Given the description of an element on the screen output the (x, y) to click on. 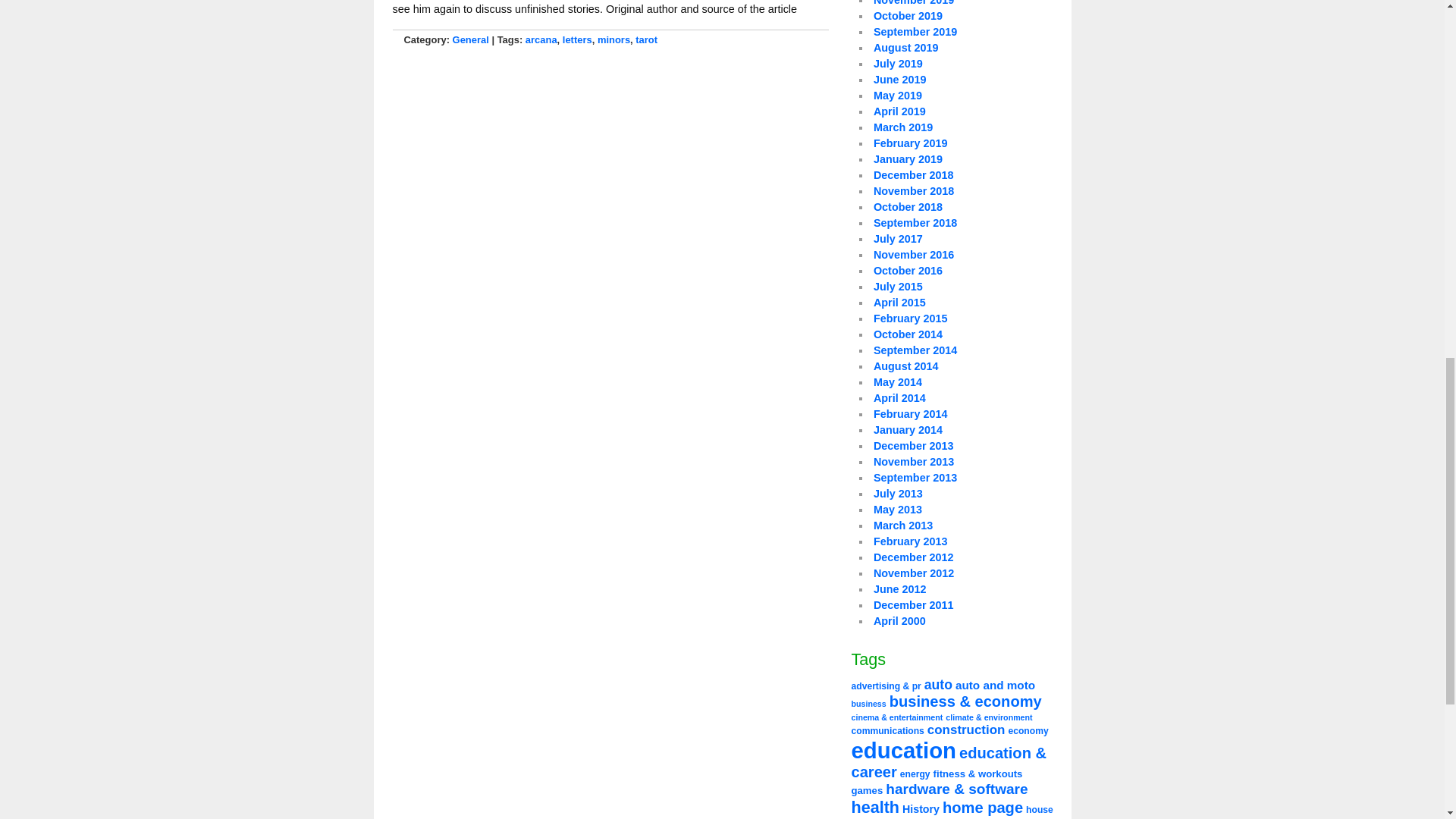
arcana (541, 39)
letters (577, 39)
July 2019 (898, 63)
tarot (646, 39)
October 2019 (907, 15)
General (470, 39)
August 2019 (906, 47)
June 2019 (899, 79)
November 2019 (913, 2)
minors (613, 39)
September 2019 (914, 31)
